Given the description of an element on the screen output the (x, y) to click on. 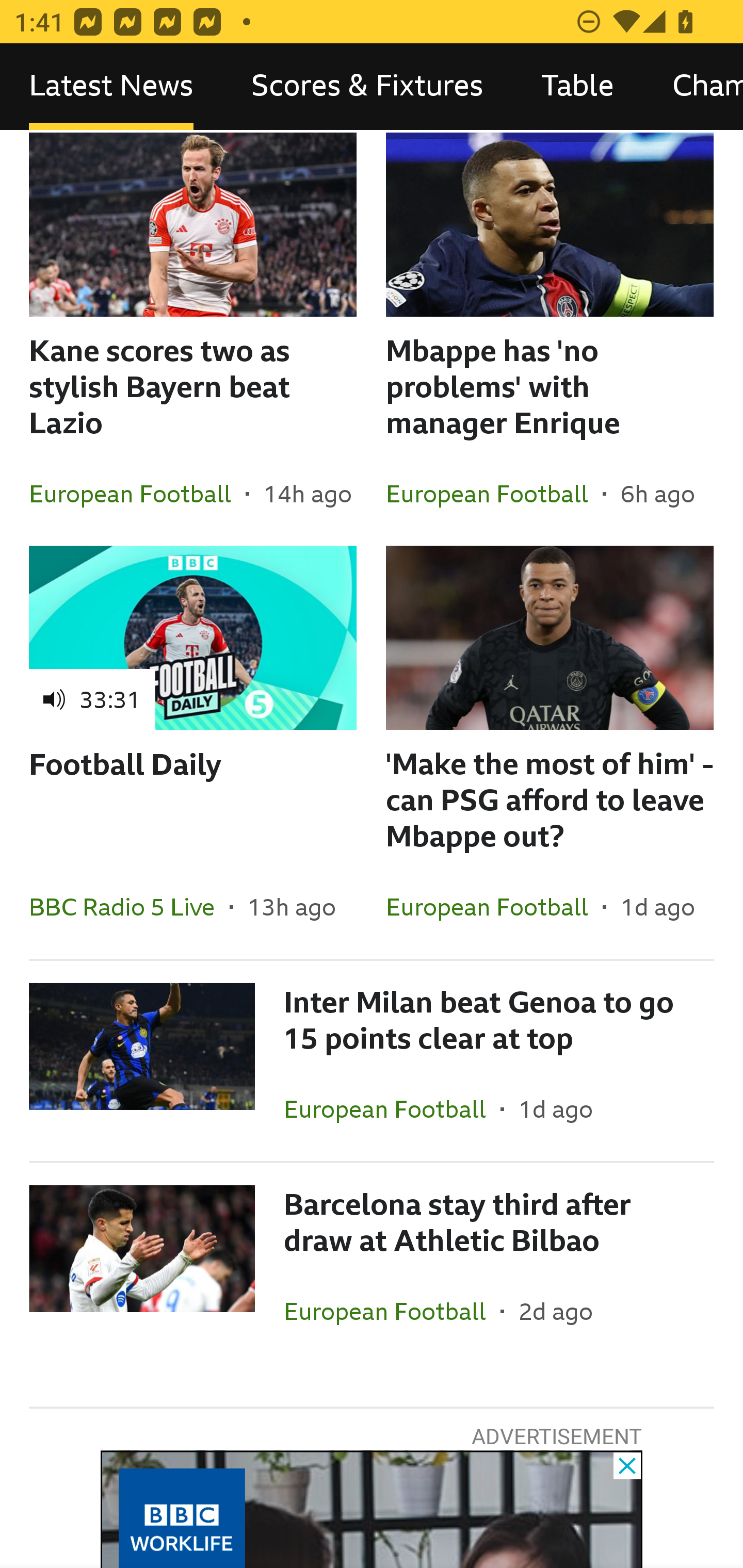
Latest News, selected Latest News (111, 86)
Scores & Fixtures (367, 86)
Table (577, 86)
Champions League (693, 86)
